Given the description of an element on the screen output the (x, y) to click on. 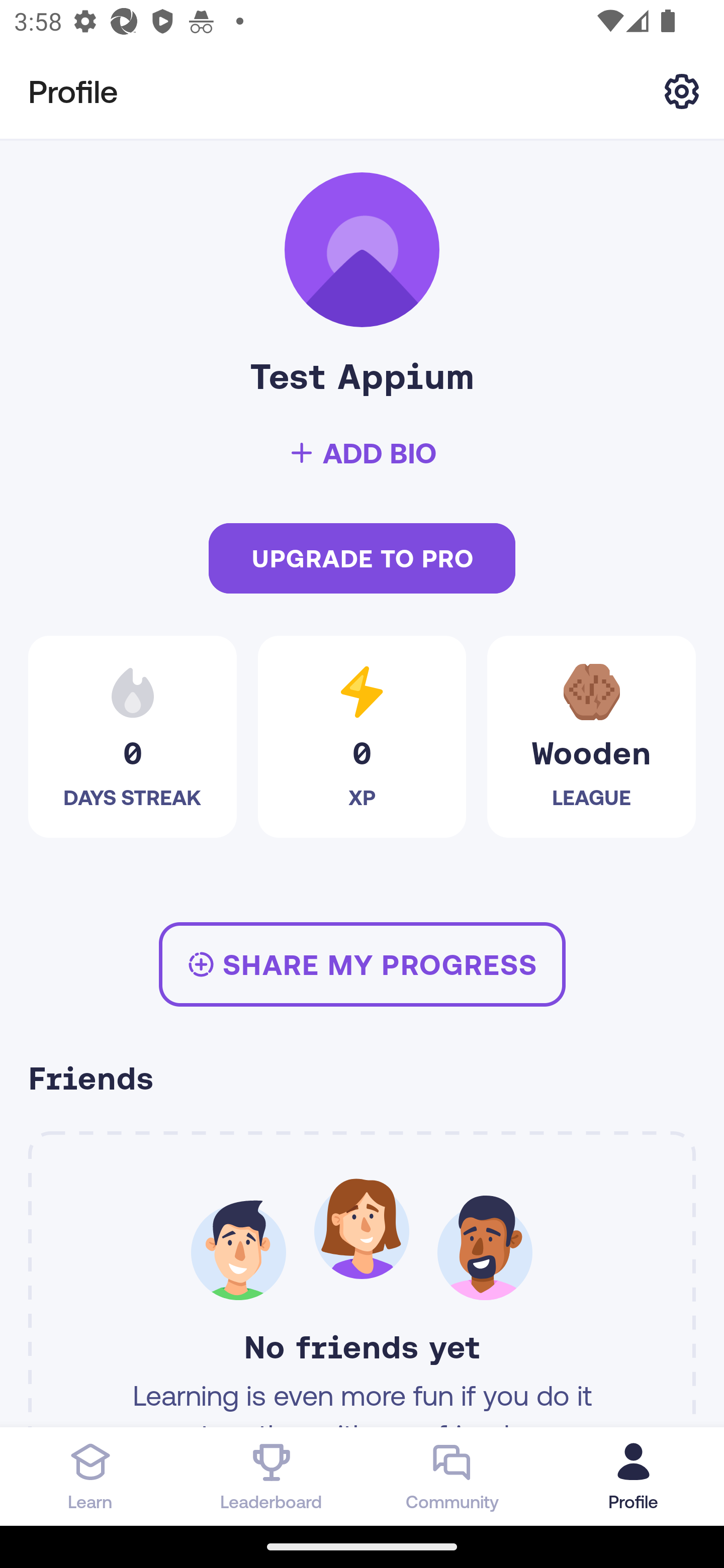
Settings (681, 90)
ADD BIO (361, 452)
UPGRADE TO PRO (361, 558)
SHARE MY PROGRESS (361, 963)
Friends (362, 1081)
Learn (90, 1475)
Leaderboard (271, 1475)
Community (452, 1475)
